Given the description of an element on the screen output the (x, y) to click on. 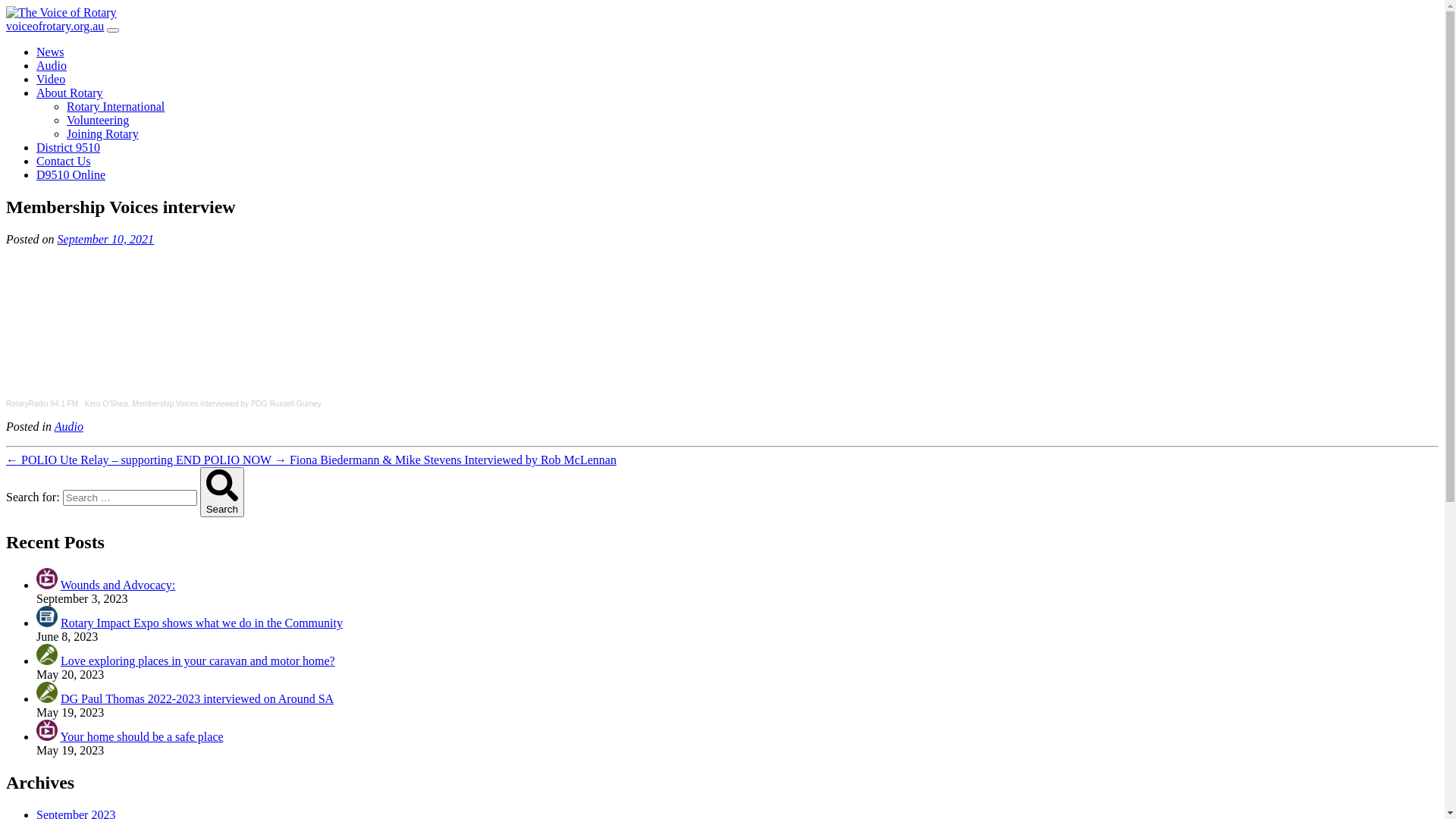
Audio Element type: text (68, 426)
voiceofrotary.org.au Element type: text (54, 25)
District 9510 Element type: text (68, 147)
Rotary Impact Expo shows what we do in the Community Element type: text (201, 622)
Joining Rotary Element type: text (102, 133)
DG Paul Thomas 2022-2023 interviewed on Around SA Element type: text (196, 698)
Rotary International Element type: text (115, 106)
News Element type: text (49, 51)
Video Element type: text (50, 78)
RotaryRadio 94.1 FM Element type: text (42, 403)
Audio Element type: text (51, 65)
Love exploring places in your caravan and motor home? Element type: text (197, 660)
Volunteering Element type: text (97, 119)
Your home should be a safe place Element type: text (140, 736)
D9510 Online Element type: text (70, 174)
Wounds and Advocacy: Element type: text (117, 584)
About Rotary Element type: text (69, 92)
Search Element type: text (222, 492)
September 10, 2021 Element type: text (105, 238)
Contact Us Element type: text (63, 160)
